Given the description of an element on the screen output the (x, y) to click on. 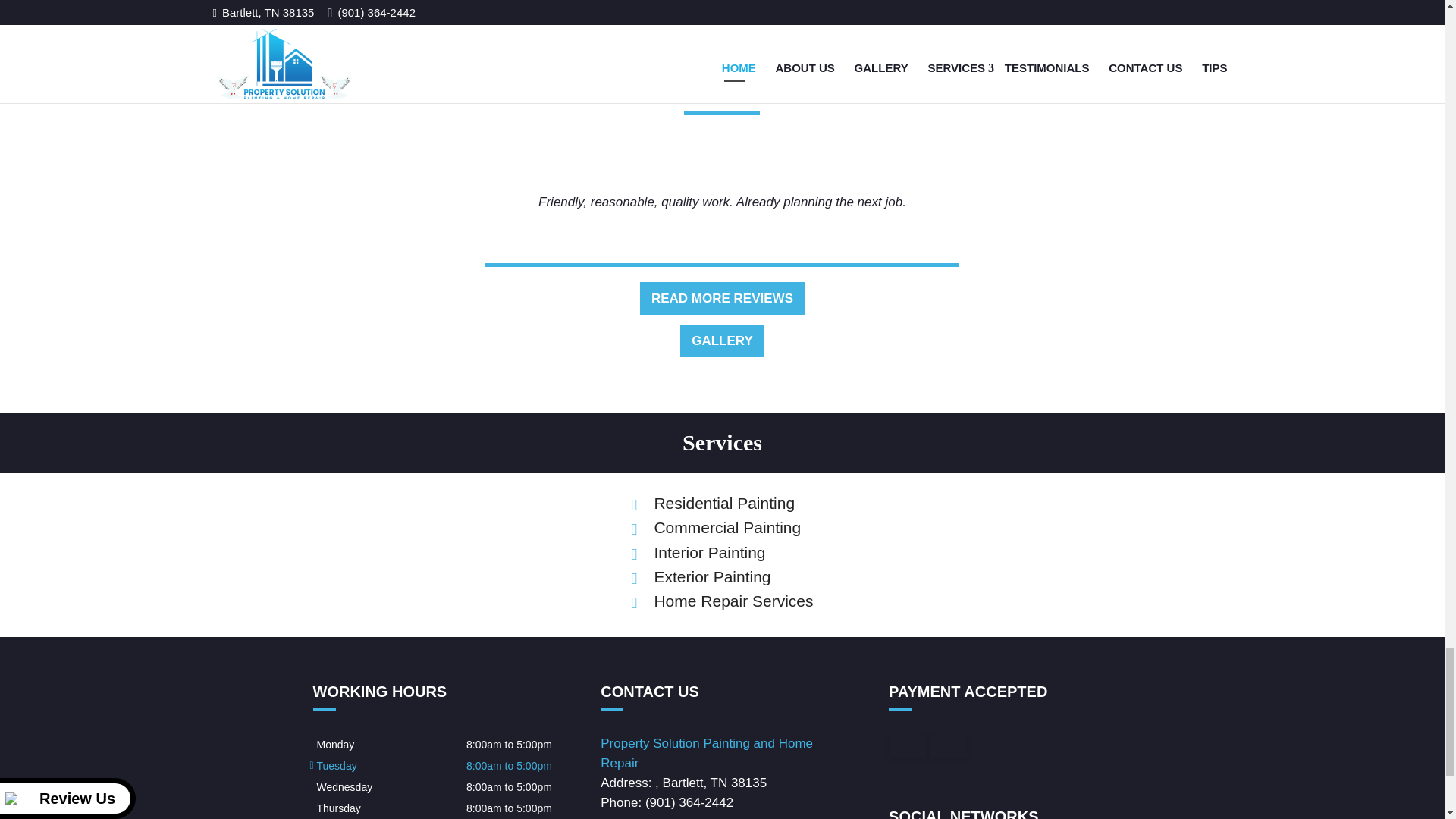
GALLERY (722, 340)
cash payment accepted (907, 745)
READ MORE REVIEWS (722, 298)
check payment accepted (948, 745)
